Given the description of an element on the screen output the (x, y) to click on. 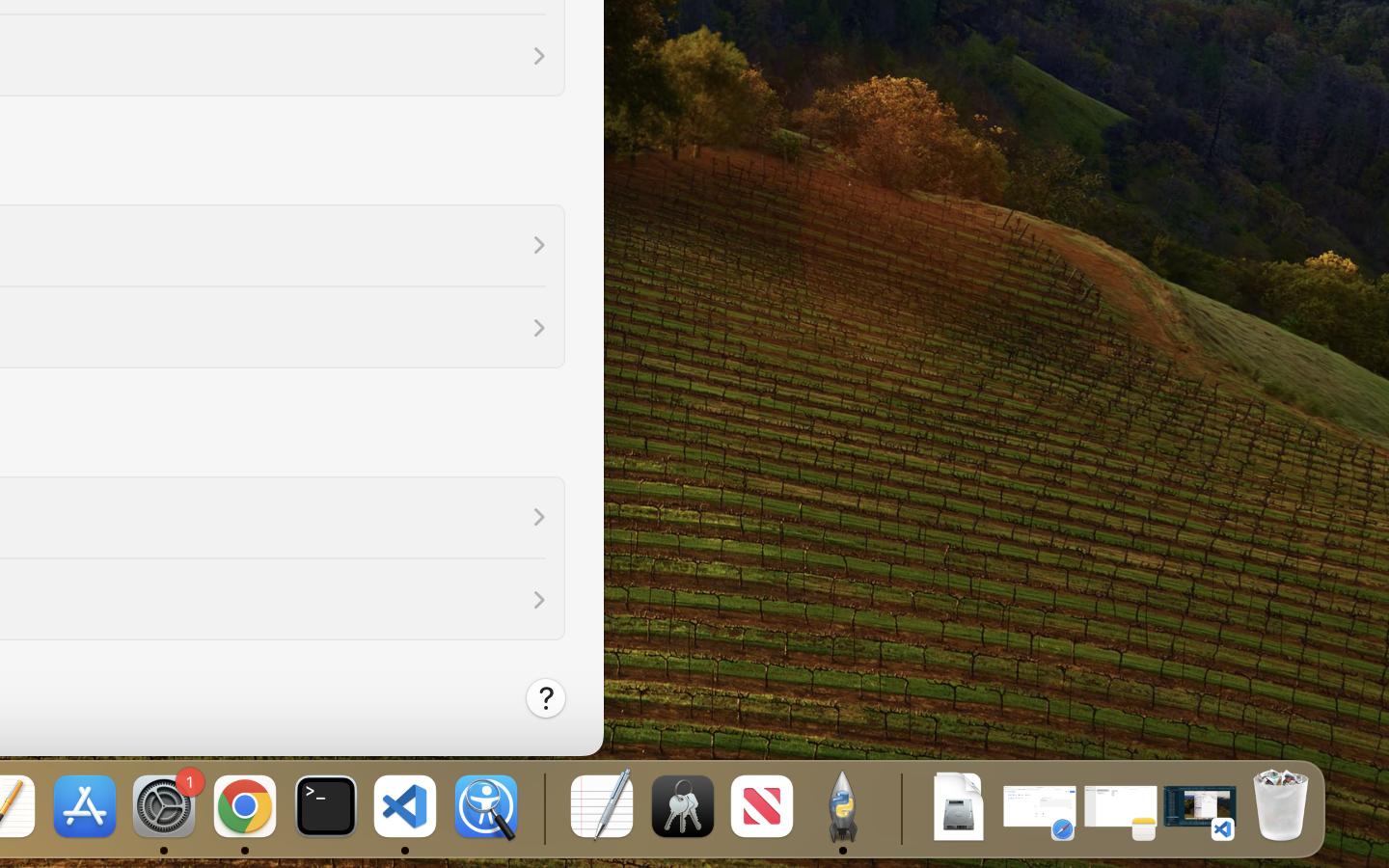
0.4285714328289032 Element type: AXDockItem (541, 807)
